Given the description of an element on the screen output the (x, y) to click on. 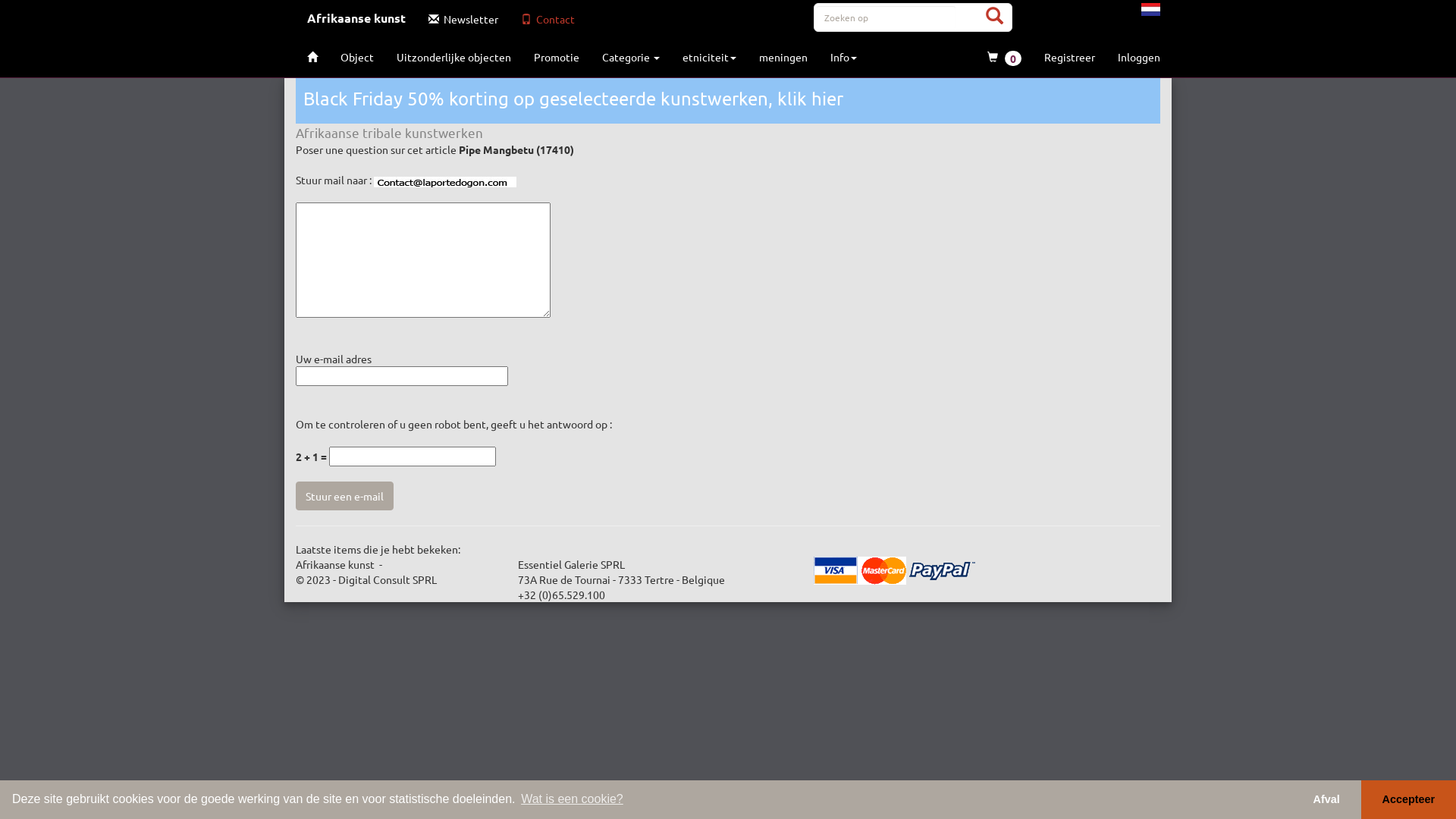
Stuur een e-mail Element type: text (344, 495)
  Newsletter Element type: text (463, 18)
Promotie Element type: text (556, 56)
Info Element type: text (843, 56)
Categorie Element type: text (630, 56)
Uitzonderlijke objecten Element type: text (453, 56)
etniciteit Element type: text (709, 56)
Afrikaanse kunst Element type: text (356, 18)
Object Element type: text (357, 56)
Wat is een cookie? Element type: text (571, 798)
meningen Element type: text (783, 56)
  Contact Element type: text (547, 18)
Inloggen Element type: text (1138, 56)
   0 Element type: text (1003, 57)
Registreer Element type: text (1069, 56)
